Given the description of an element on the screen output the (x, y) to click on. 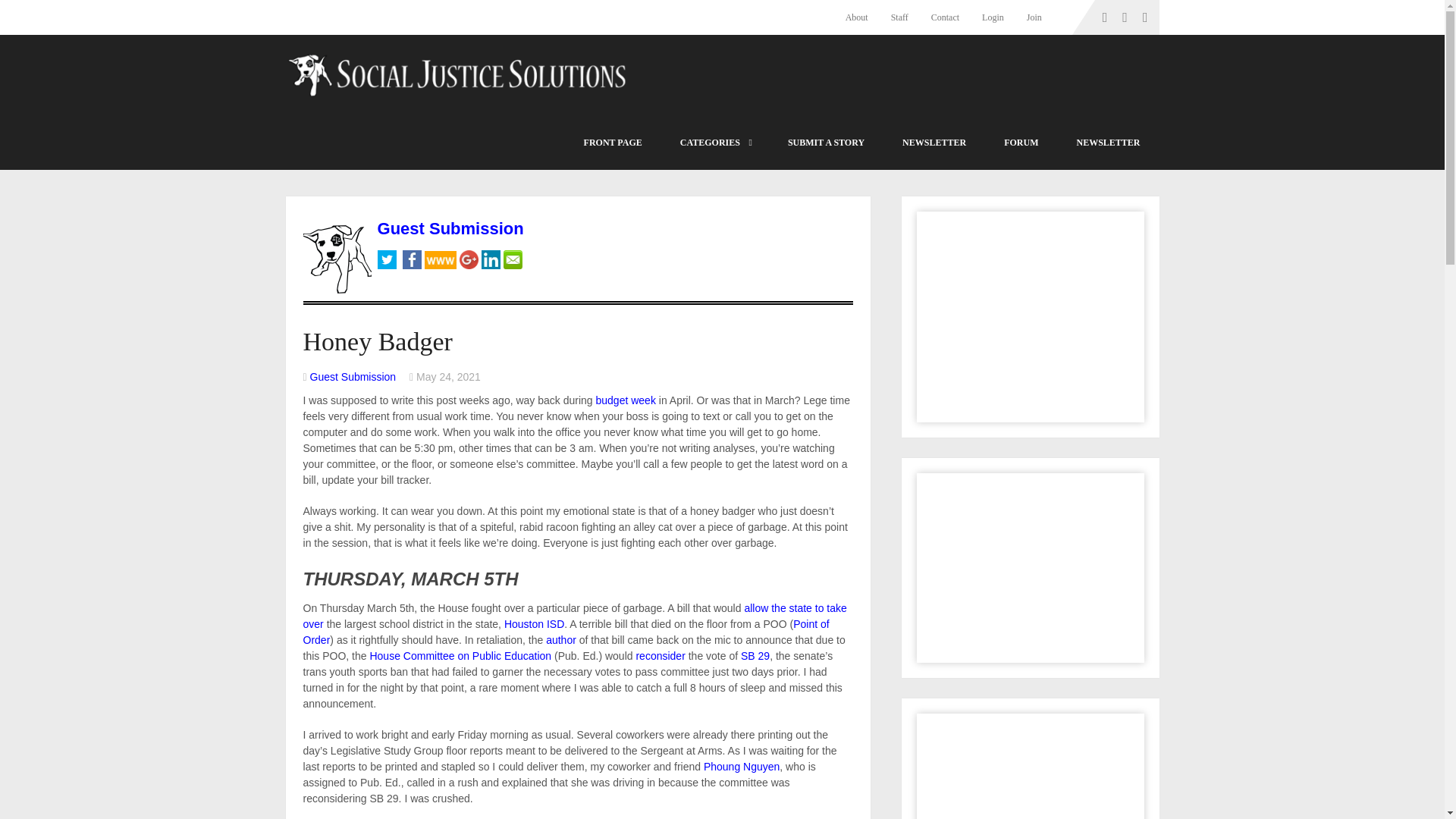
Latest (612, 142)
Login (992, 17)
CATEGORIES (714, 142)
About Social Justice Solutions (862, 17)
SB 29 (755, 655)
House Committee on Public Education (460, 655)
Point of Order (565, 632)
FRONT PAGE (612, 142)
Guest Submission (353, 377)
author (561, 639)
Join (1033, 17)
Contact Social Justice Solutions (945, 17)
Posts by Guest Submission (353, 377)
Houston ISD (533, 623)
FORUM (1021, 142)
